Given the description of an element on the screen output the (x, y) to click on. 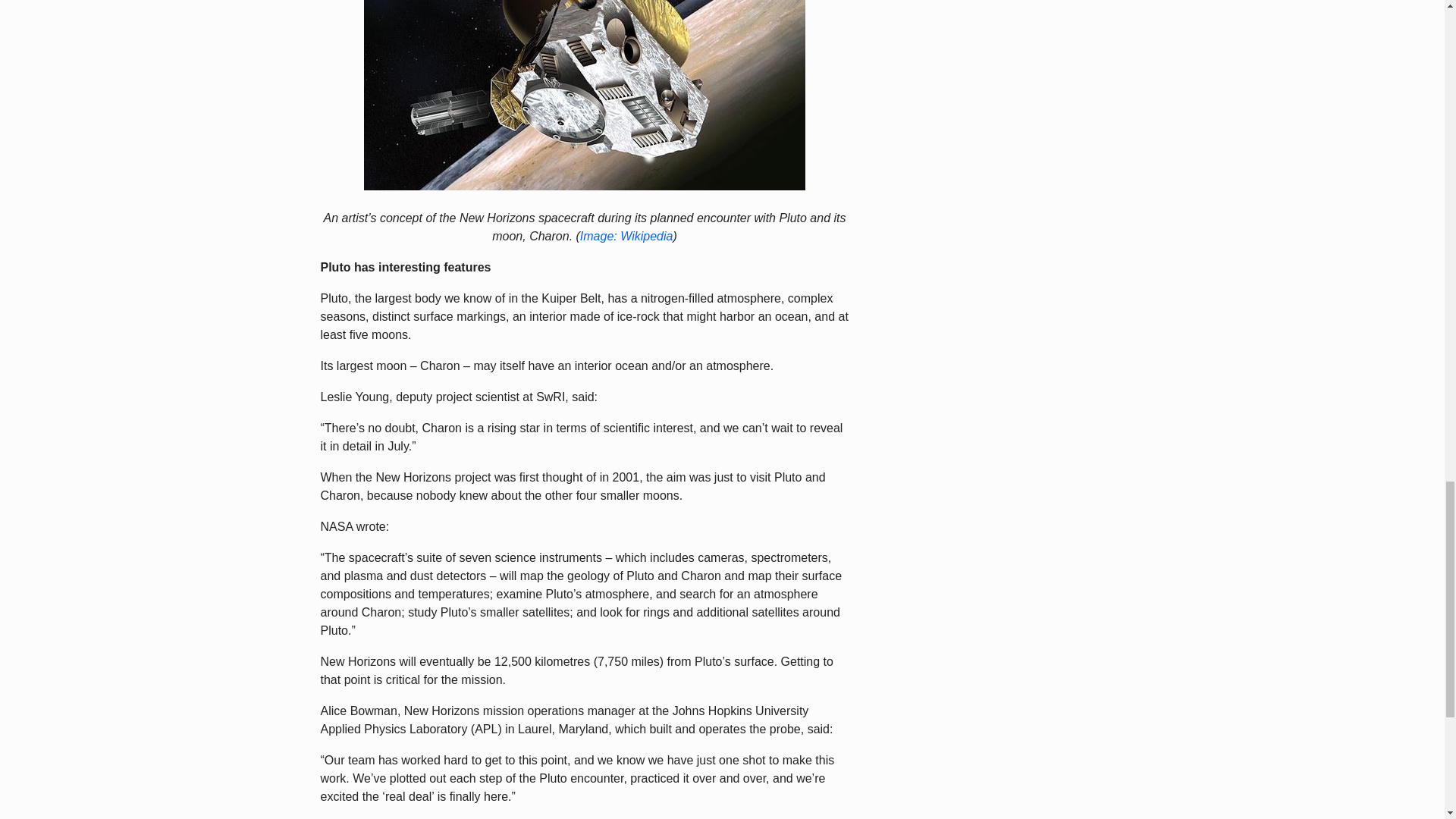
Image: Wikipedia (625, 236)
